Given the description of an element on the screen output the (x, y) to click on. 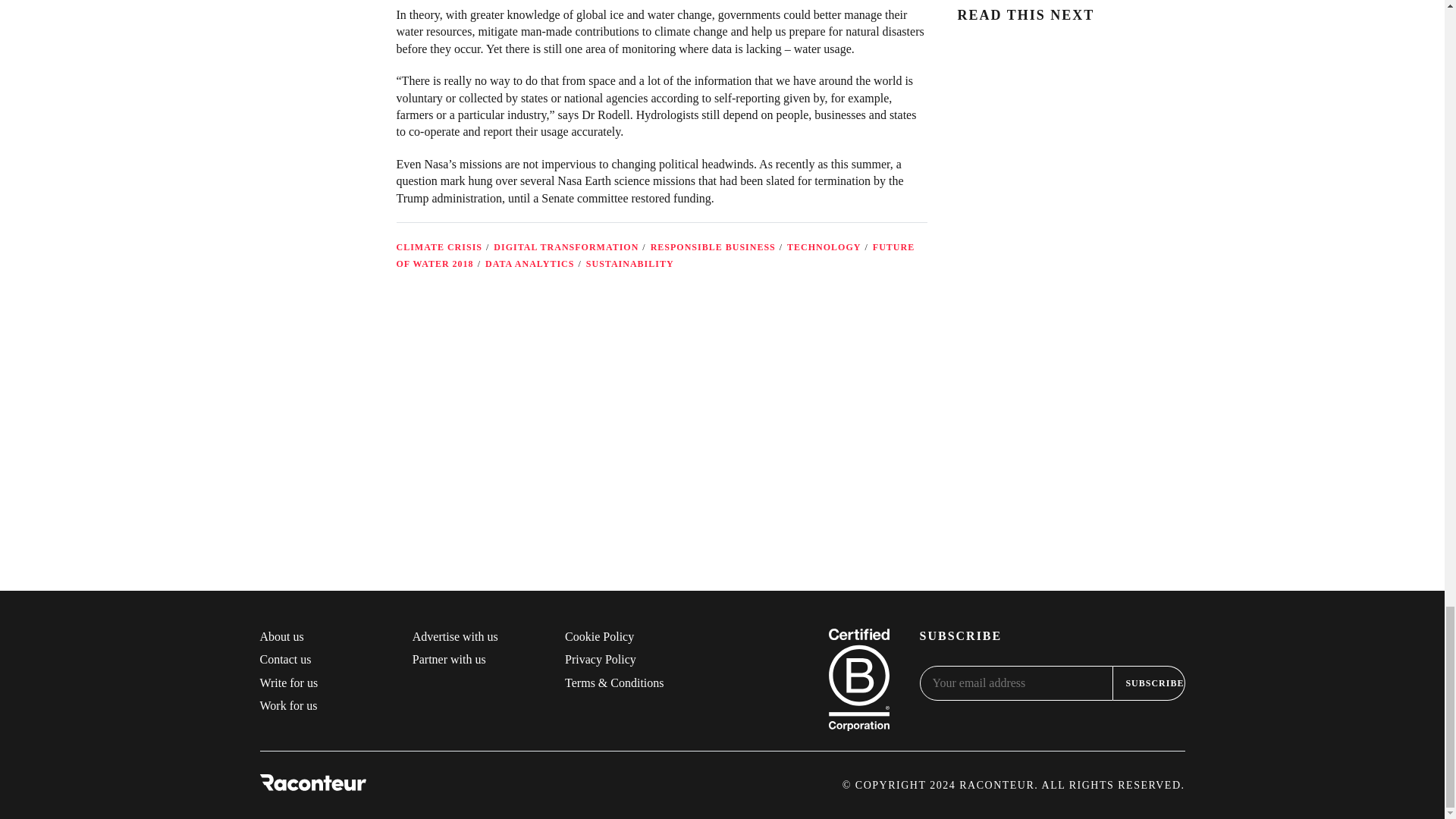
SUSTAINABILITY (630, 263)
CLIMATE CRISIS (438, 246)
Contact us (285, 658)
Privacy Policy (600, 658)
Subscribe (1149, 683)
RESPONSIBLE BUSINESS (713, 246)
Work for us (288, 705)
TECHNOLOGY (823, 246)
Advertise with us (454, 635)
Subscribe (1149, 683)
